Given the description of an element on the screen output the (x, y) to click on. 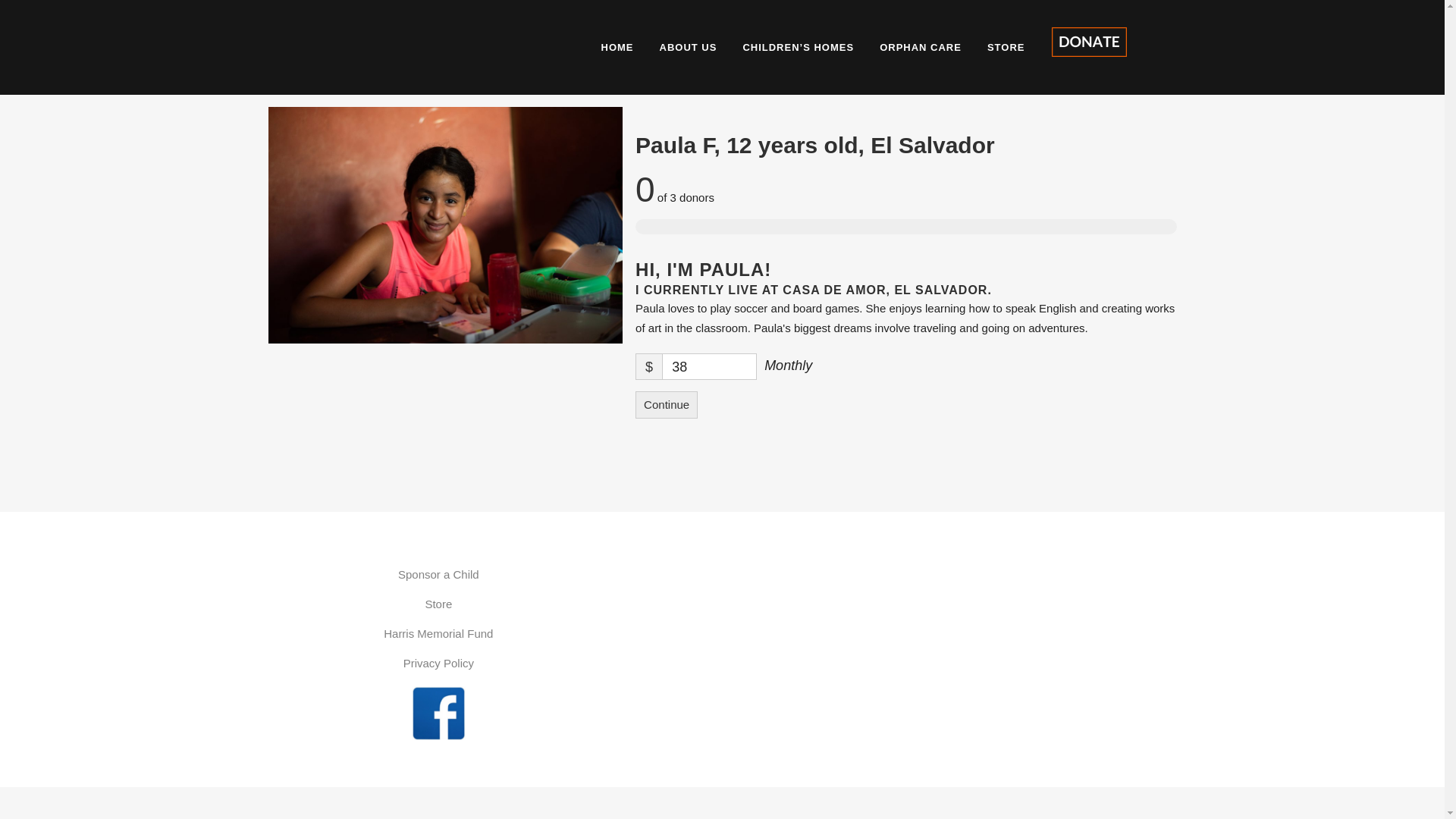
Privacy Policy (438, 663)
Harris Memorial Fund (438, 633)
ORPHAN CARE (920, 47)
Store (438, 604)
Continue (665, 404)
Sponsor a Child (438, 574)
